Given the description of an element on the screen output the (x, y) to click on. 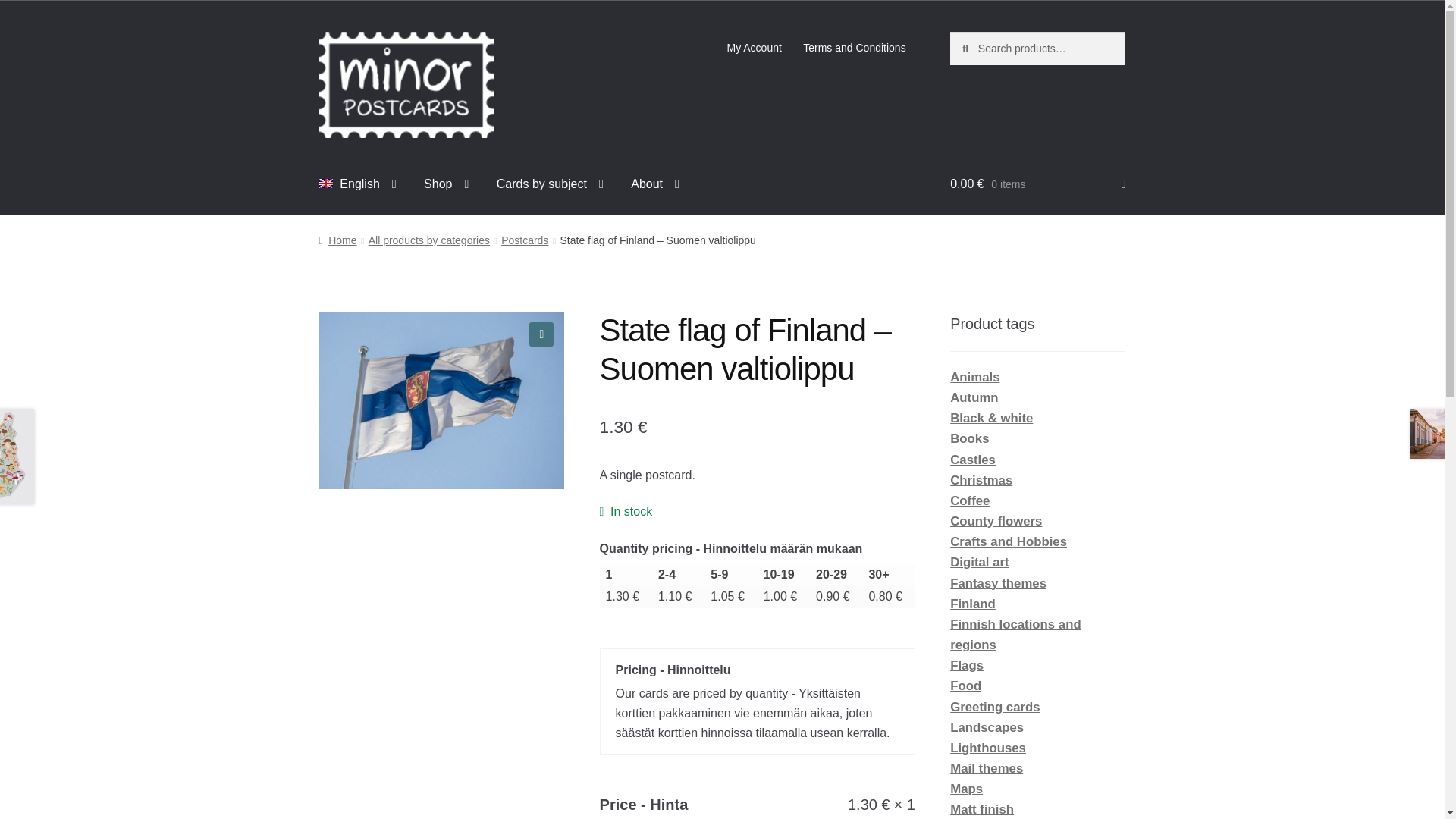
Terms and Conditions (854, 47)
English (358, 183)
About (654, 183)
Cards by subject (549, 183)
Shop (446, 183)
My Account (753, 47)
English (358, 183)
View your shopping cart (1037, 183)
